Given the description of an element on the screen output the (x, y) to click on. 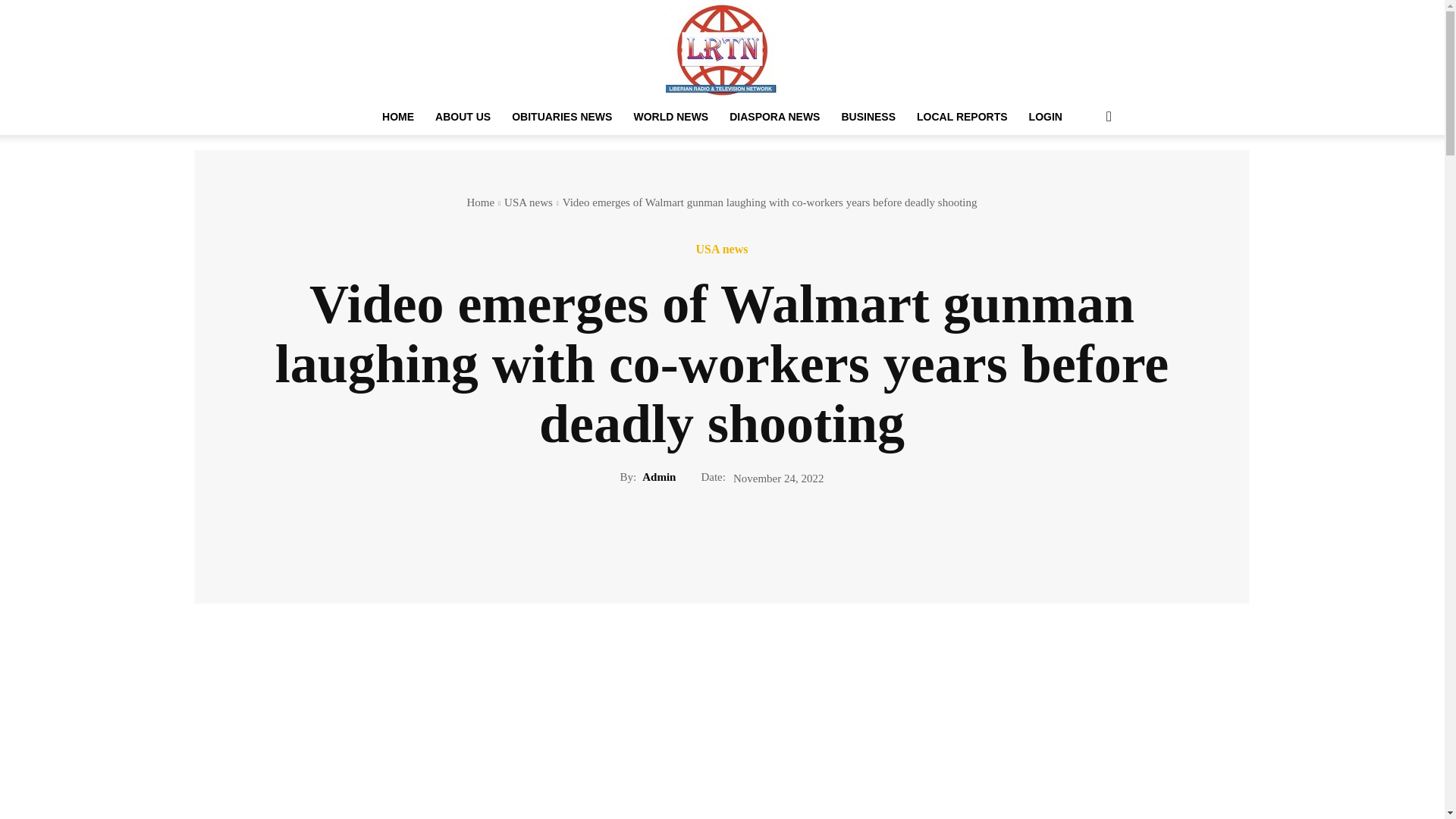
BUSINESS (867, 116)
View all posts in USA news (528, 202)
DIASPORA NEWS (774, 116)
WORLD NEWS (671, 116)
HOME (398, 116)
OBITUARIES NEWS (561, 116)
ABOUT US (462, 116)
